Given the description of an element on the screen output the (x, y) to click on. 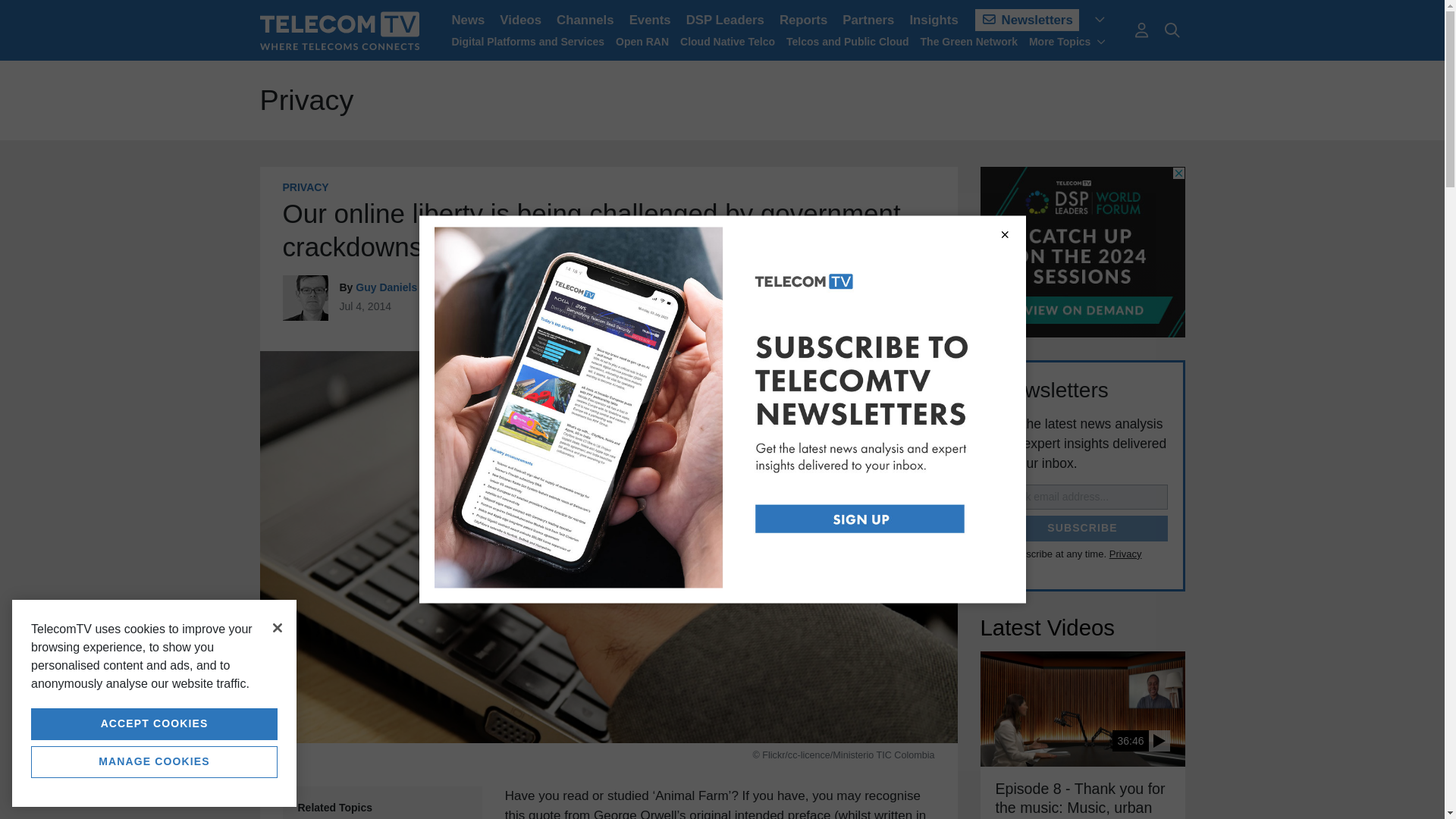
More Topics (1067, 41)
DSP Leaders (724, 20)
Partners (867, 20)
News (468, 20)
Insights (932, 20)
Videos (520, 20)
Events (650, 20)
Reports (802, 20)
3rd party ad content (1082, 252)
Cloud Native Telco (726, 41)
Telcos and Public Cloud (847, 41)
Digital Platforms and Services (528, 41)
Open RAN (641, 41)
Newsletters (1026, 20)
July 4, 2014 12:43 PM (365, 306)
